Given the description of an element on the screen output the (x, y) to click on. 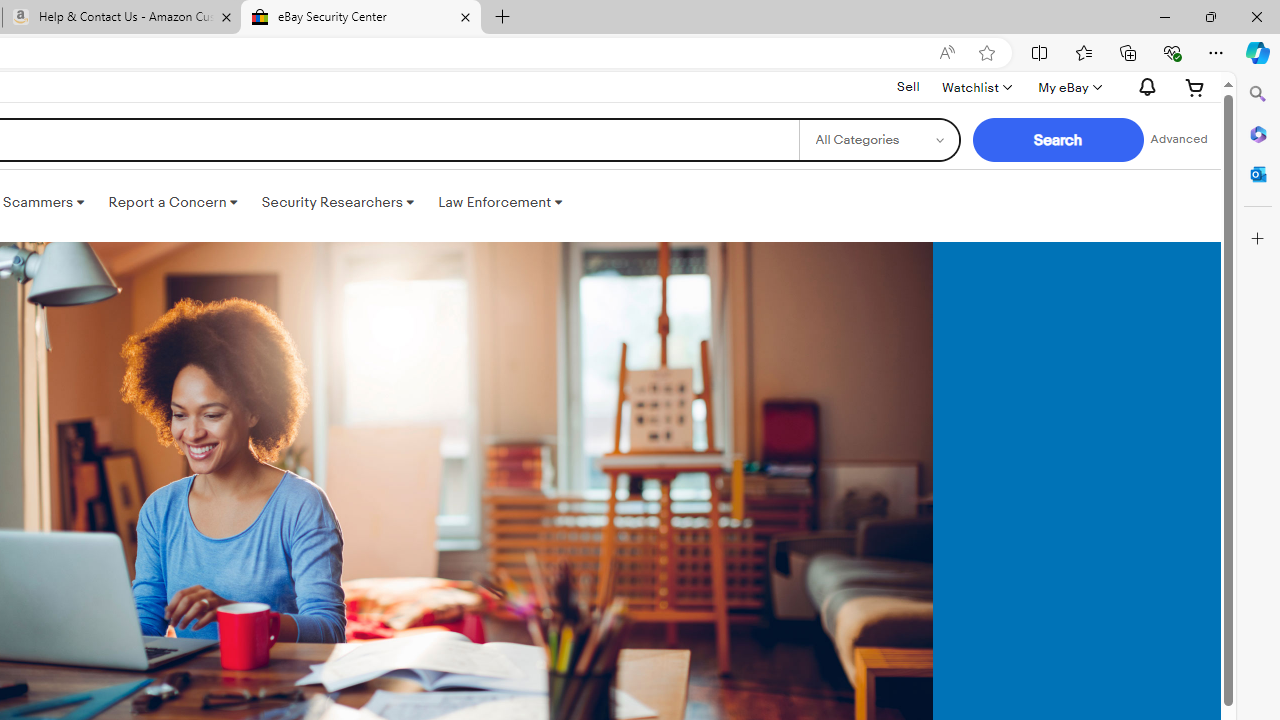
WatchlistExpand Watch List (975, 87)
Report a Concern  (173, 202)
Security Researchers  (337, 202)
Expand Cart (1195, 87)
My eBayExpand My eBay (1068, 87)
Your shopping cart (1195, 87)
Watchlist (975, 87)
